Given the description of an element on the screen output the (x, y) to click on. 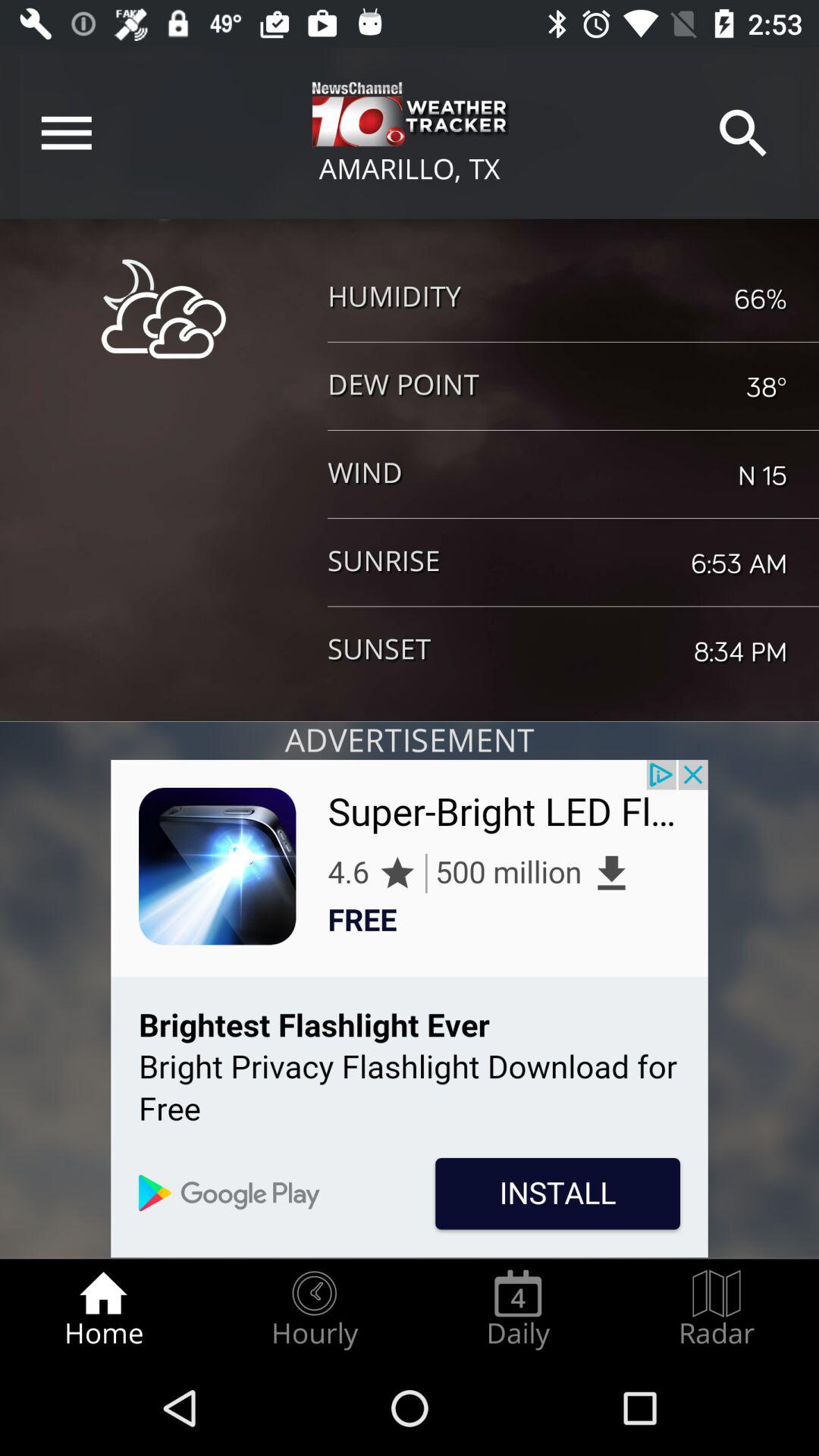
press the icon to the left of the daily radio button (314, 1309)
